Given the description of an element on the screen output the (x, y) to click on. 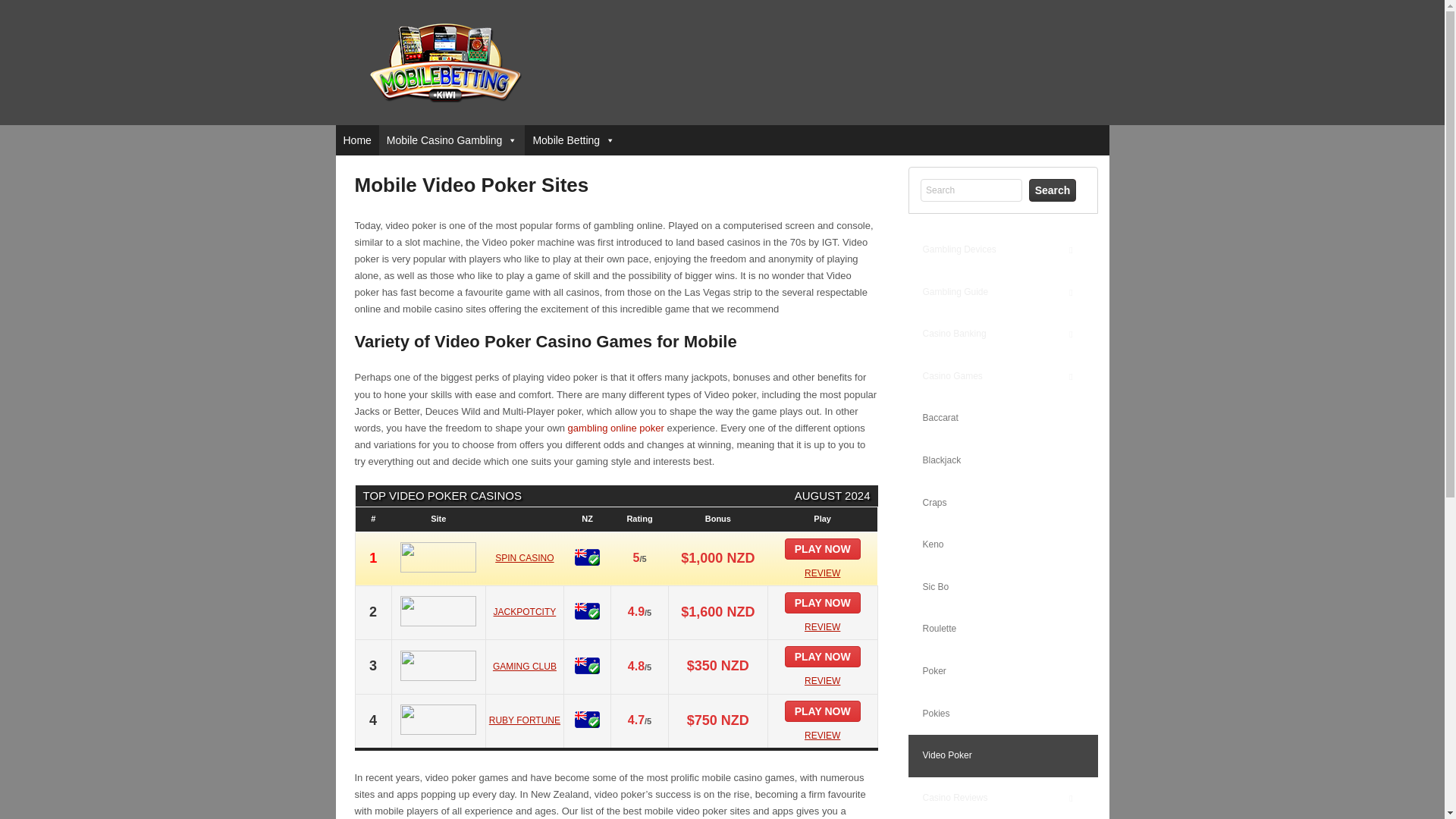
Search (1052, 190)
JackpotCity (822, 626)
Ruby Fortune (822, 735)
Search (971, 190)
Search (1052, 190)
Search (971, 190)
Mobile Betting (573, 140)
Home (356, 140)
Gaming Club (822, 680)
Mobile Casino Gambling (451, 140)
